Given the description of an element on the screen output the (x, y) to click on. 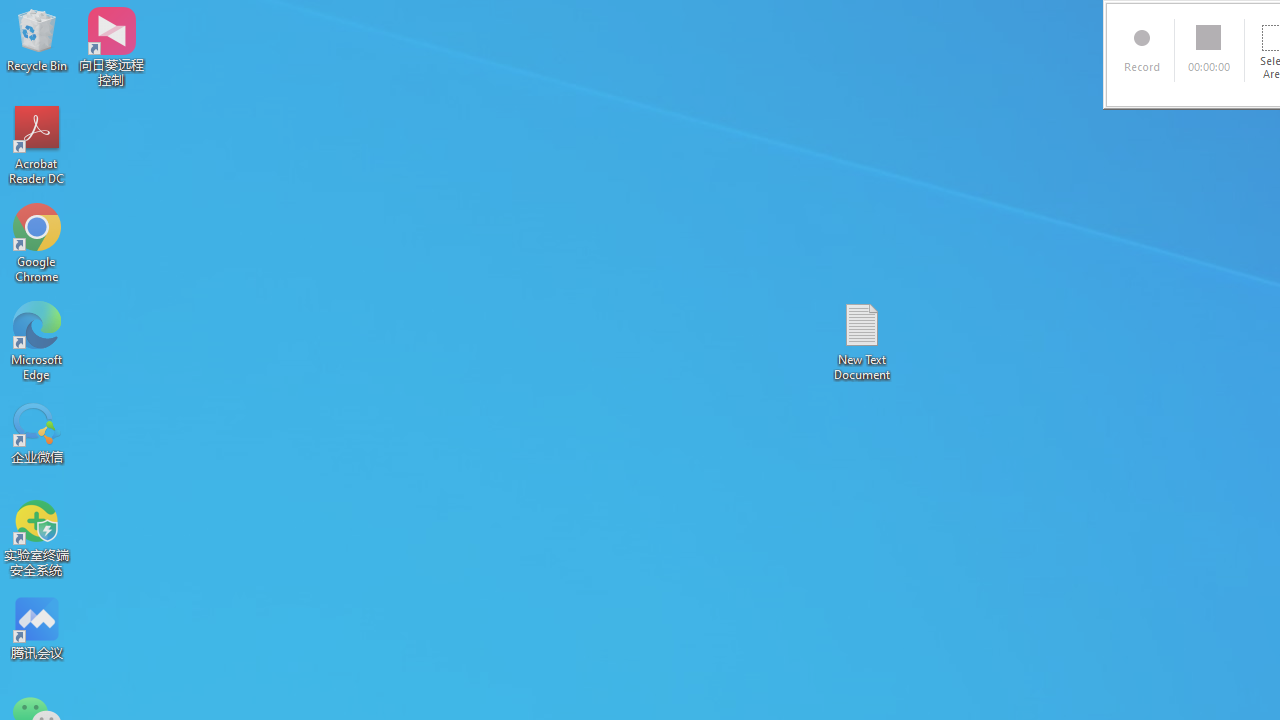
00:00:00 (1209, 50)
